Given the description of an element on the screen output the (x, y) to click on. 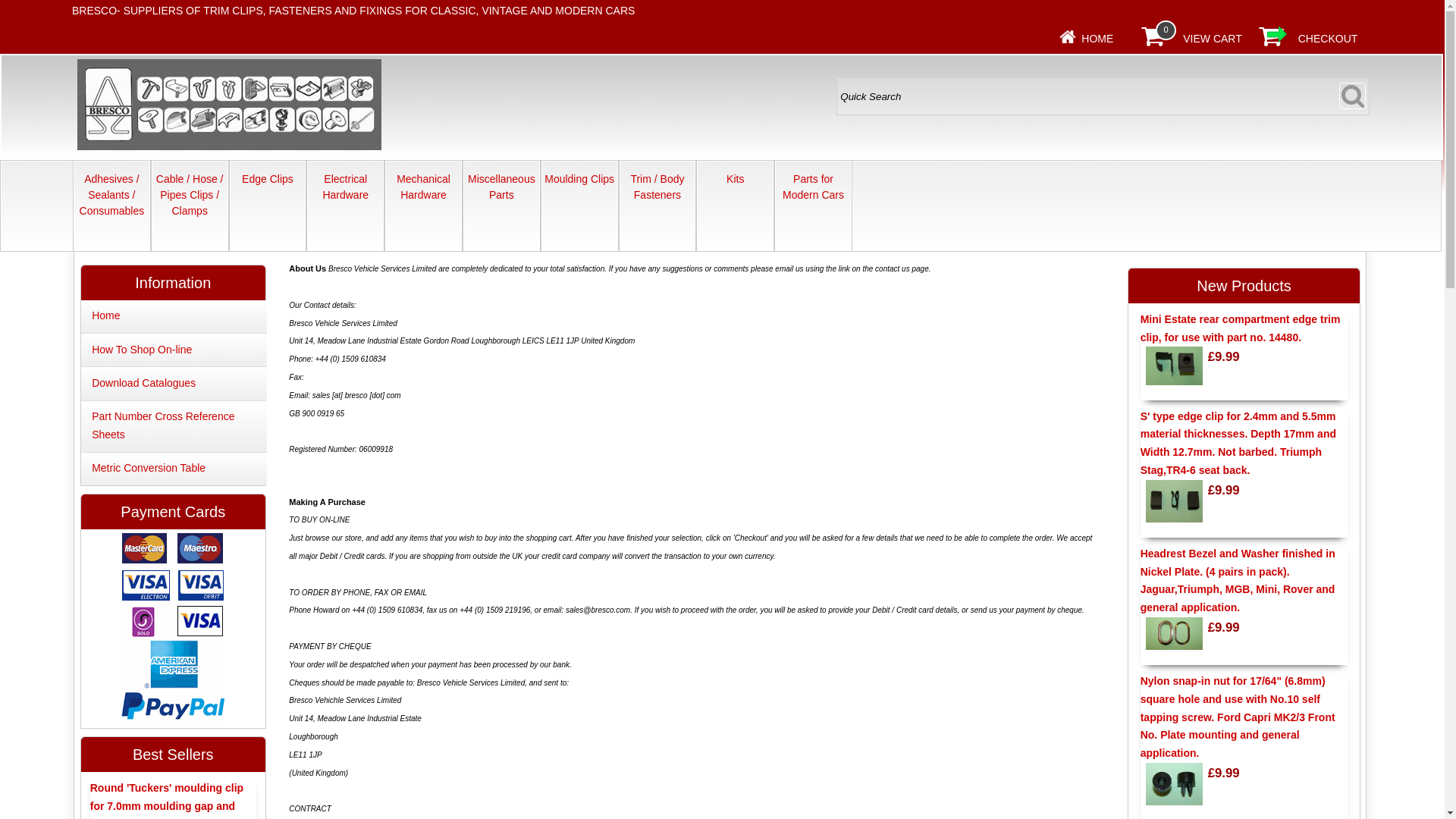
HOME (1097, 38)
Go! (1352, 95)
VIEW CART (1211, 38)
Bresco Vehicle Services Limited Classic Car Parts (229, 103)
Quick Search (1102, 95)
Go! (1352, 95)
Go! (1352, 95)
Quick Search (1102, 95)
